Given the description of an element on the screen output the (x, y) to click on. 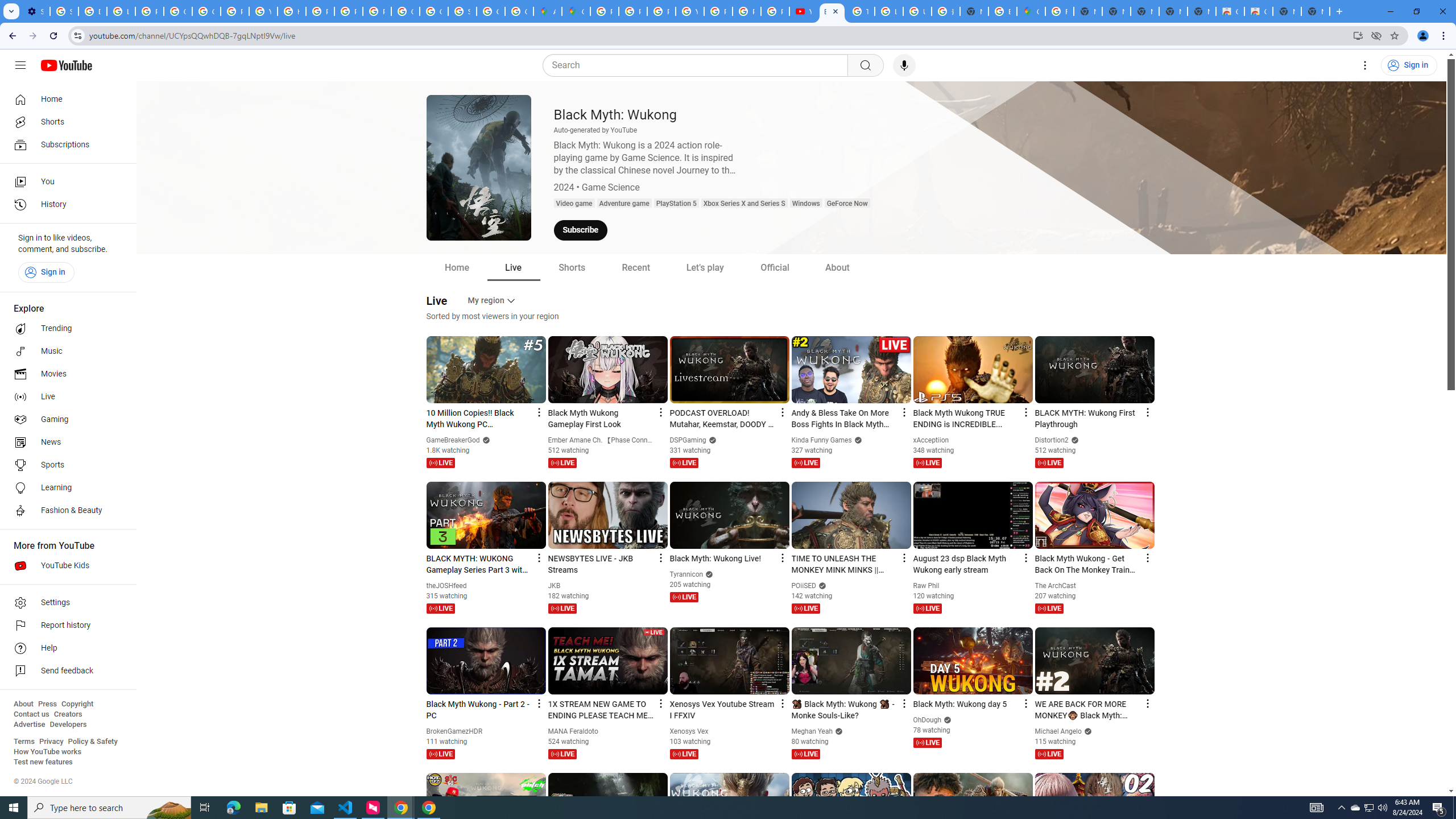
Privacy Help Center - Policies Help (320, 11)
POiiSED (803, 585)
Tyrannicon (686, 574)
YouTube Home (66, 65)
Policy & Safety (91, 741)
BrokenGamezHDR (454, 731)
